Given the description of an element on the screen output the (x, y) to click on. 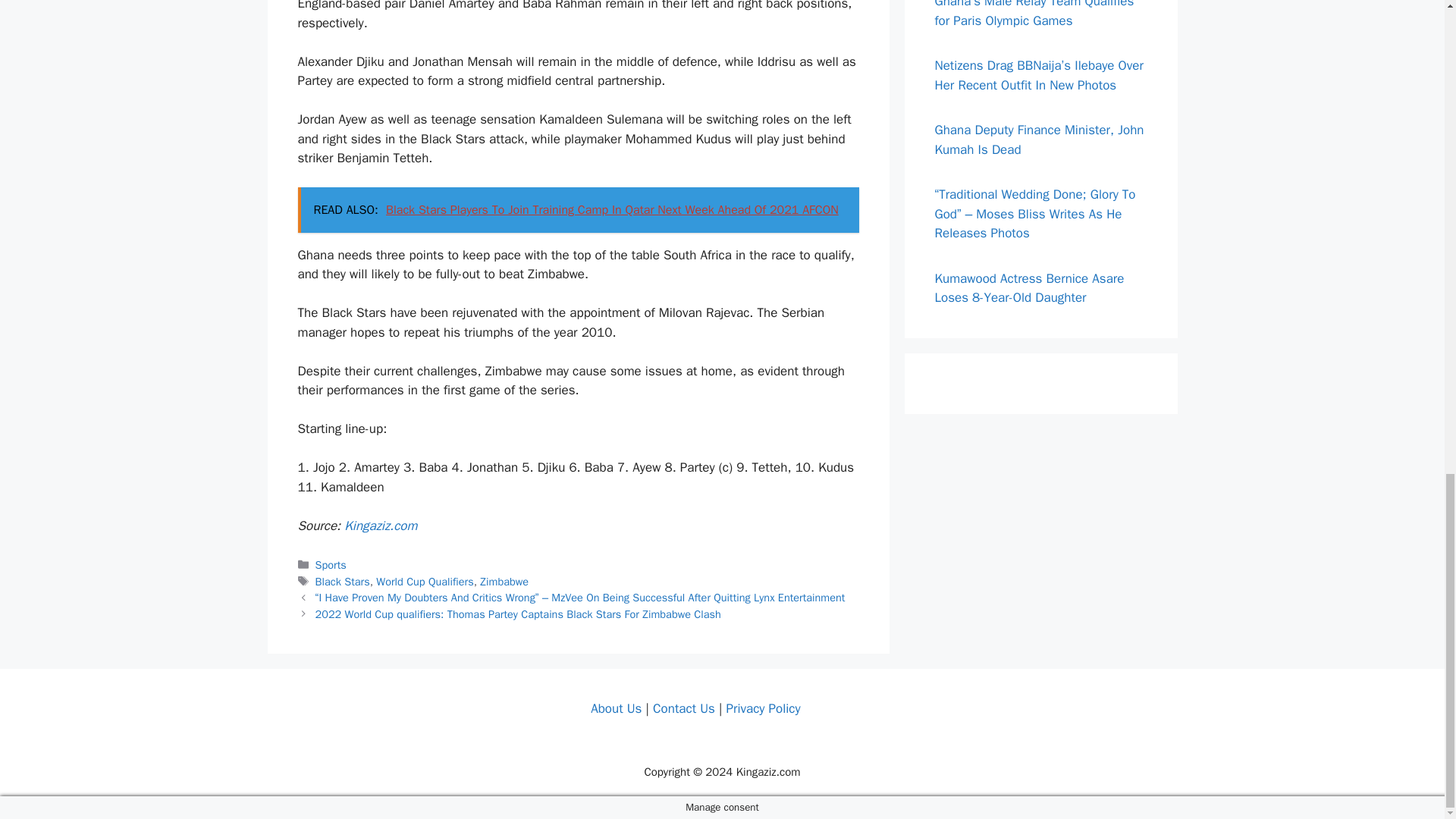
Contact Us (683, 708)
Kumawood Actress Bernice Asare Loses 8-Year-Old Daughter (1029, 288)
Sports (330, 564)
Privacy Policy (762, 708)
Black Stars (342, 581)
About Us (616, 708)
World Cup Qualifiers (424, 581)
Kingaziz.com (379, 525)
Zimbabwe (504, 581)
Ghana Deputy Finance Minister, John Kumah Is Dead (1038, 140)
